Given the description of an element on the screen output the (x, y) to click on. 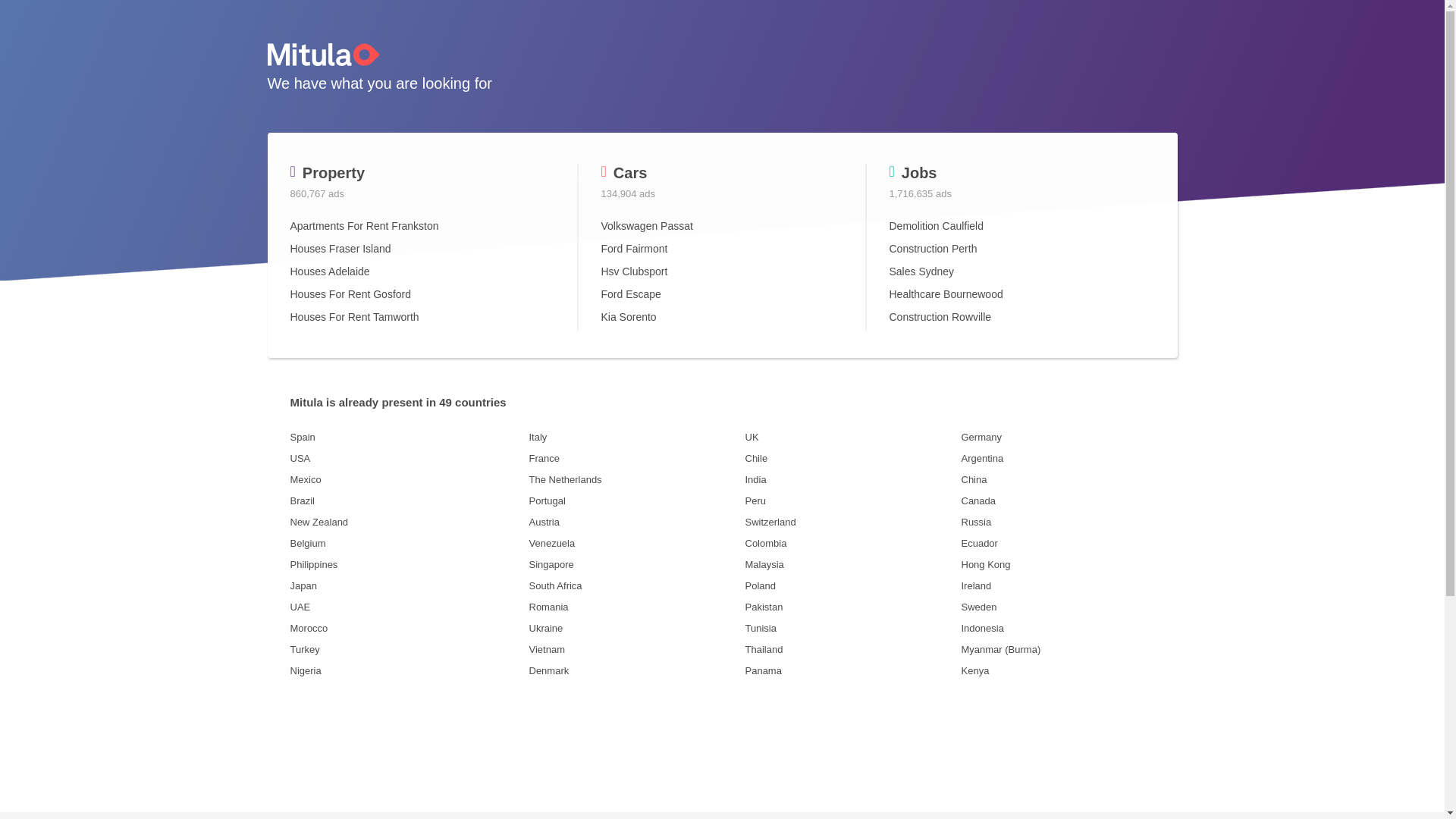
Hsv Clubsport Element type: text (633, 271)
Ford Fairmont Element type: text (633, 248)
Kia Sorento Element type: text (627, 316)
Myanmar (Burma) Element type: text (1057, 649)
Apartments For Rent Frankston Element type: text (363, 225)
Austria Element type: text (625, 522)
Vietnam Element type: text (625, 649)
Pakistan Element type: text (852, 607)
France Element type: text (625, 458)
Property Element type: text (326, 172)
The Netherlands Element type: text (625, 479)
New Zealand Element type: text (397, 522)
Nigeria Element type: text (397, 670)
Romania Element type: text (625, 607)
Ecuador Element type: text (1057, 543)
Turkey Element type: text (397, 649)
Brazil Element type: text (397, 500)
India Element type: text (852, 479)
Poland Element type: text (852, 585)
Houses For Rent Tamworth Element type: text (353, 316)
Demolition Caulfield Element type: text (935, 225)
Healthcare Bournewood Element type: text (945, 293)
Peru Element type: text (852, 500)
Philippines Element type: text (397, 564)
Malaysia Element type: text (852, 564)
Hong Kong Element type: text (1057, 564)
UAE Element type: text (397, 607)
Venezuela Element type: text (625, 543)
Japan Element type: text (397, 585)
Ford Escape Element type: text (630, 293)
Colombia Element type: text (852, 543)
Canada Element type: text (1057, 500)
Russia Element type: text (1057, 522)
Cars Element type: text (623, 172)
Ukraine Element type: text (625, 628)
Construction Perth Element type: text (932, 248)
Volkswagen Passat Element type: text (646, 225)
China Element type: text (1057, 479)
Germany Element type: text (1057, 437)
Denmark Element type: text (625, 670)
Morocco Element type: text (397, 628)
Thailand Element type: text (852, 649)
Sweden Element type: text (1057, 607)
Switzerland Element type: text (852, 522)
Ireland Element type: text (1057, 585)
Singapore Element type: text (625, 564)
Tunisia Element type: text (852, 628)
Indonesia Element type: text (1057, 628)
Spain Element type: text (397, 437)
Argentina Element type: text (1057, 458)
Jobs Element type: text (912, 172)
Houses For Rent Gosford Element type: text (350, 293)
Houses Fraser Island Element type: text (339, 248)
Belgium Element type: text (397, 543)
Kenya Element type: text (1057, 670)
Panama Element type: text (852, 670)
USA Element type: text (397, 458)
Sales Sydney Element type: text (920, 271)
UK Element type: text (852, 437)
Italy Element type: text (625, 437)
Mexico Element type: text (397, 479)
Portugal Element type: text (625, 500)
South Africa Element type: text (625, 585)
Construction Rowville Element type: text (939, 316)
Houses Adelaide Element type: text (329, 271)
Chile Element type: text (852, 458)
